Given the description of an element on the screen output the (x, y) to click on. 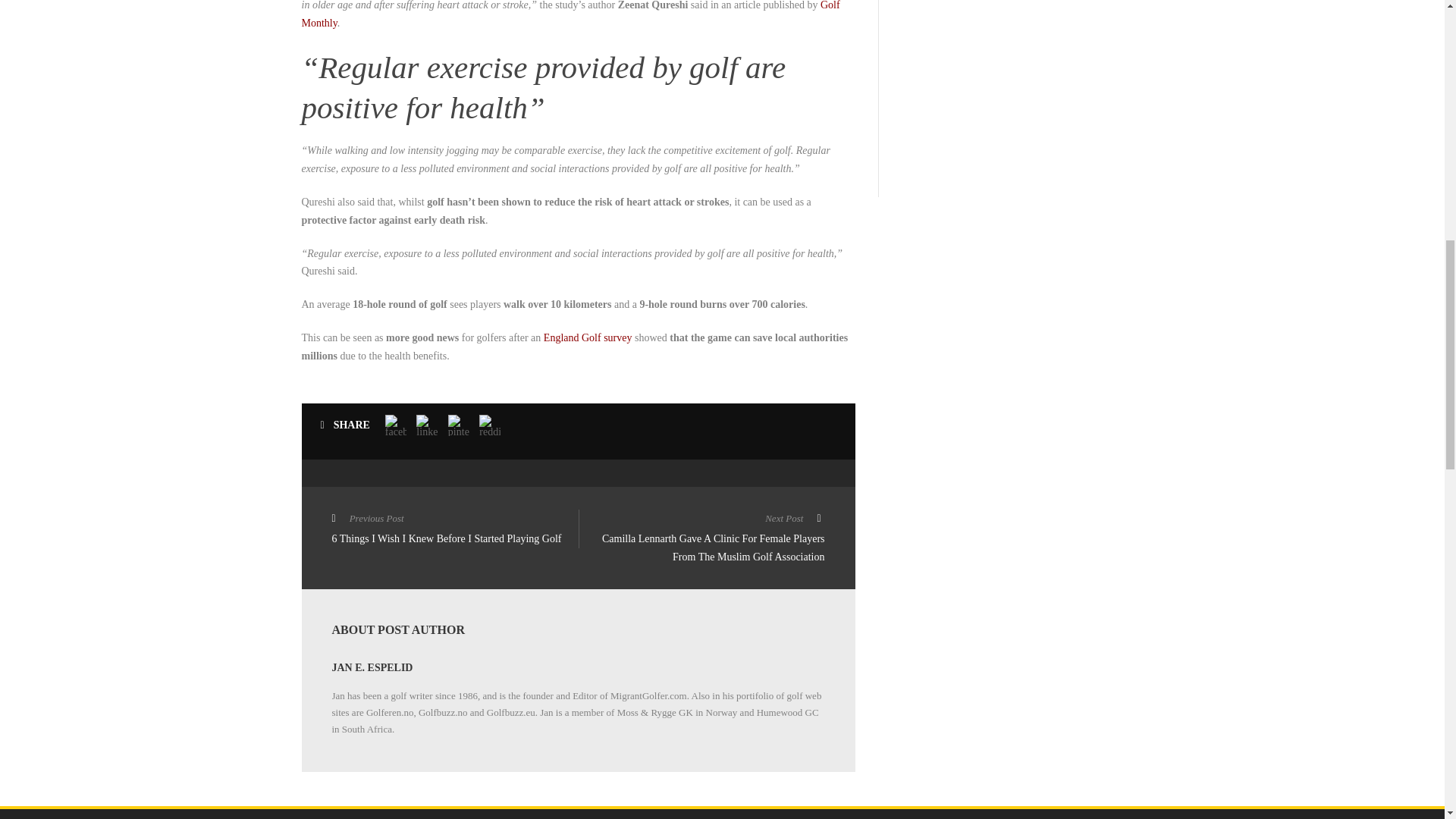
Golf Monthly (570, 14)
England Golf survey (587, 337)
JAN E. ESPELID (372, 667)
Posts by Jan E. Espelid (372, 667)
